Given the description of an element on the screen output the (x, y) to click on. 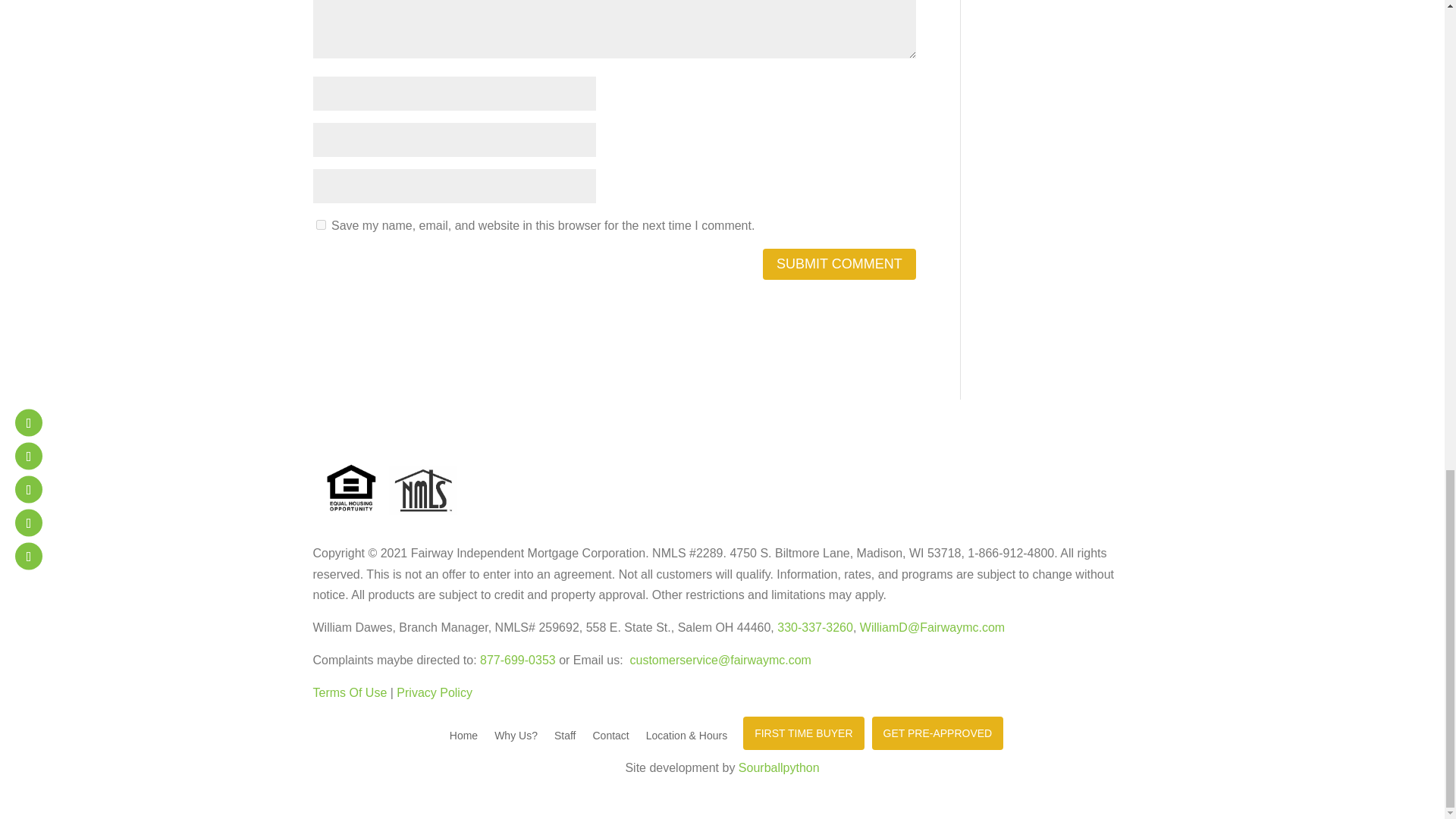
yes (319, 225)
Submit Comment (838, 264)
